Given the description of an element on the screen output the (x, y) to click on. 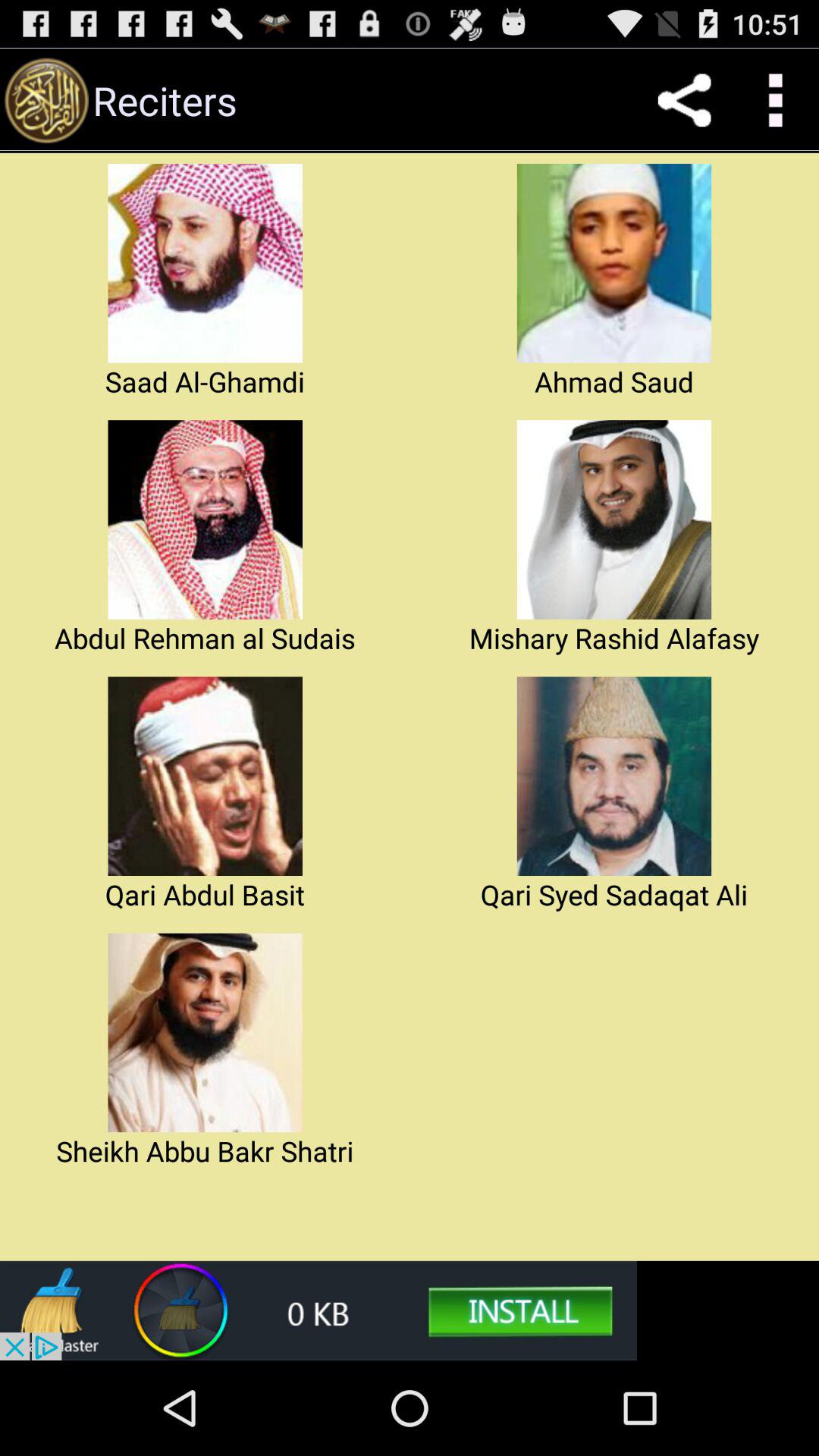
sharing files (684, 100)
